Given the description of an element on the screen output the (x, y) to click on. 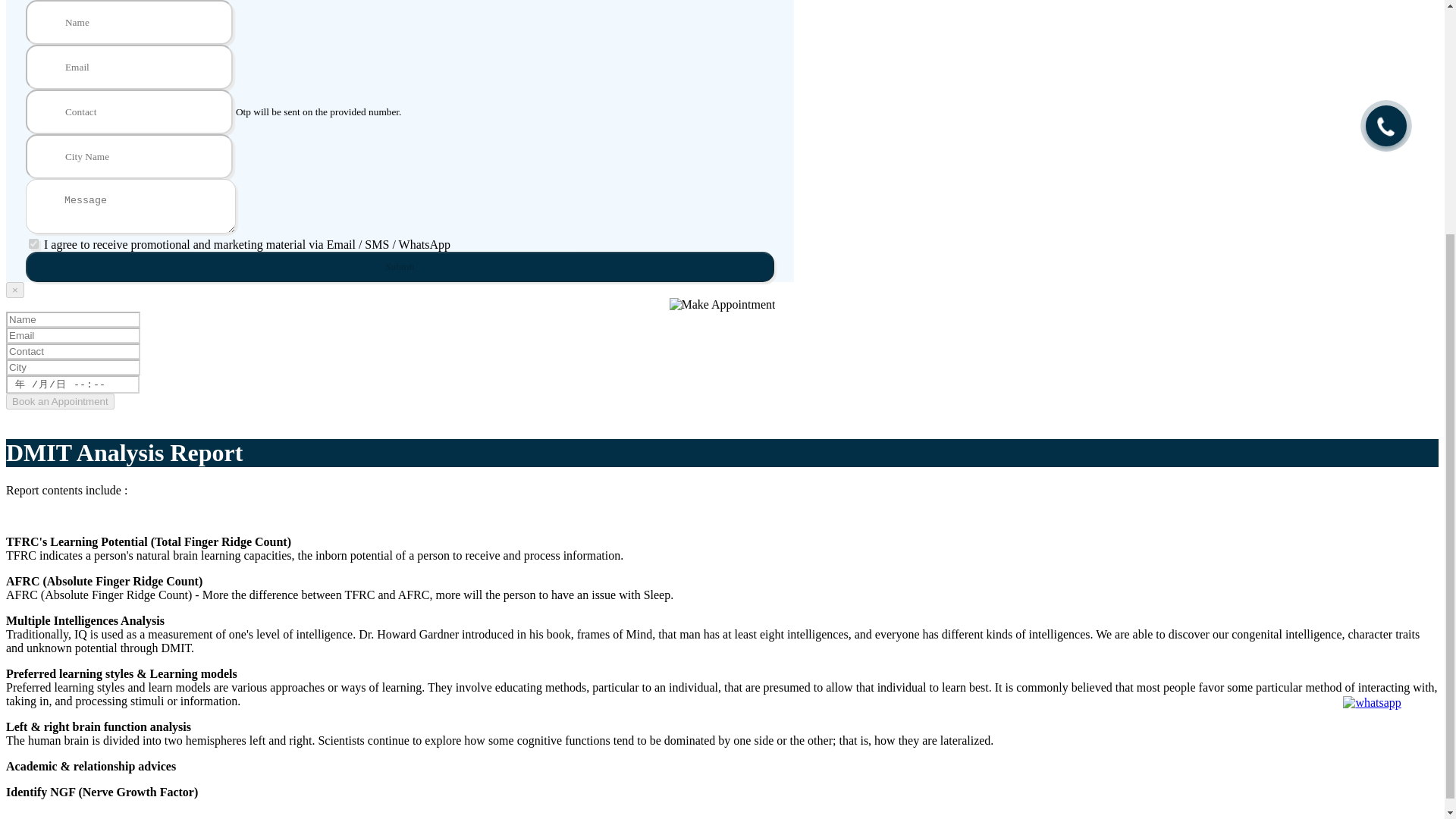
Submit (400, 266)
Book an Appointment (60, 401)
Yss (34, 243)
Submit (400, 266)
Book an Appointment (60, 401)
